Given the description of an element on the screen output the (x, y) to click on. 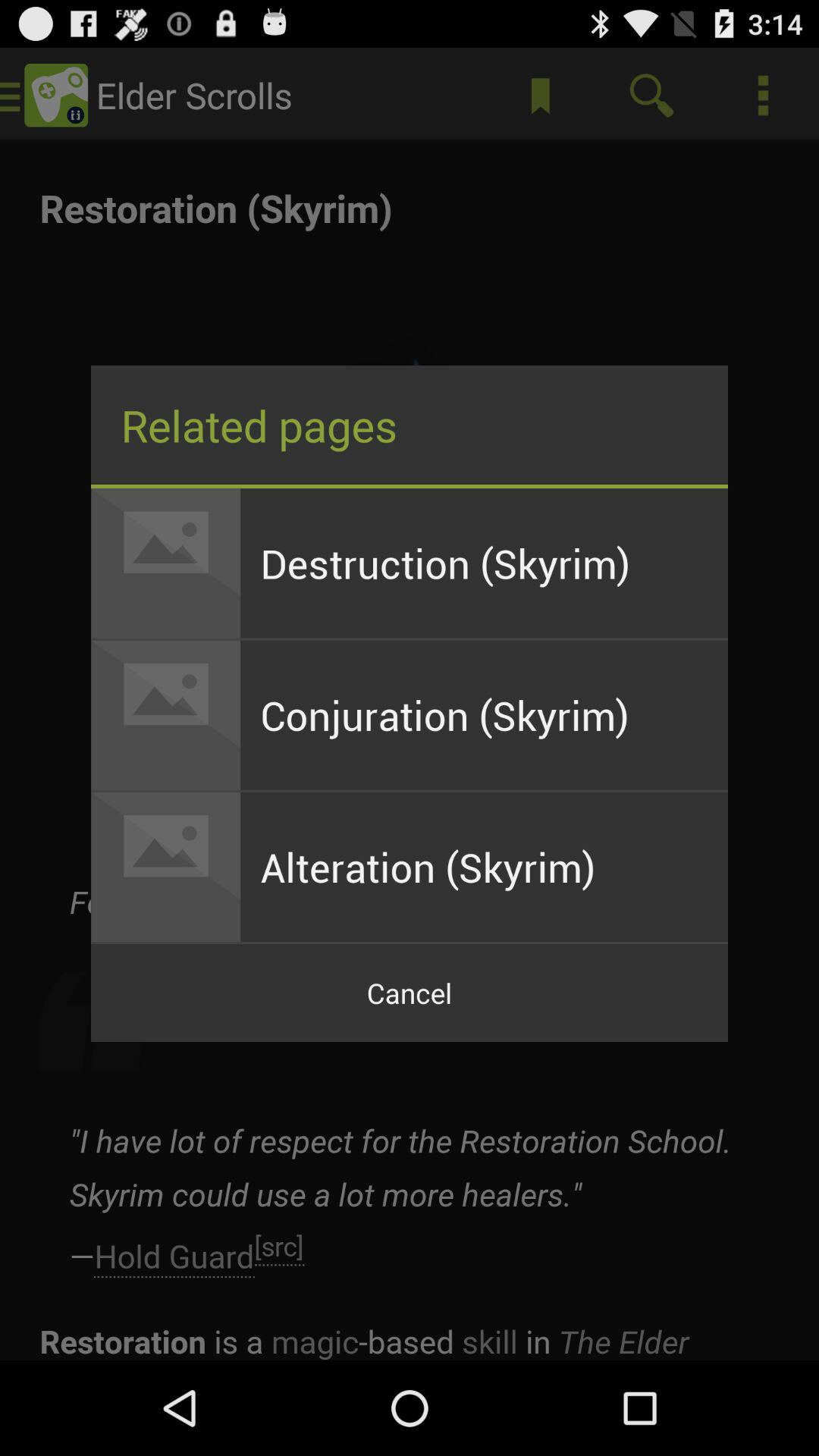
jump to the alteration (skyrim) app (484, 866)
